Given the description of an element on the screen output the (x, y) to click on. 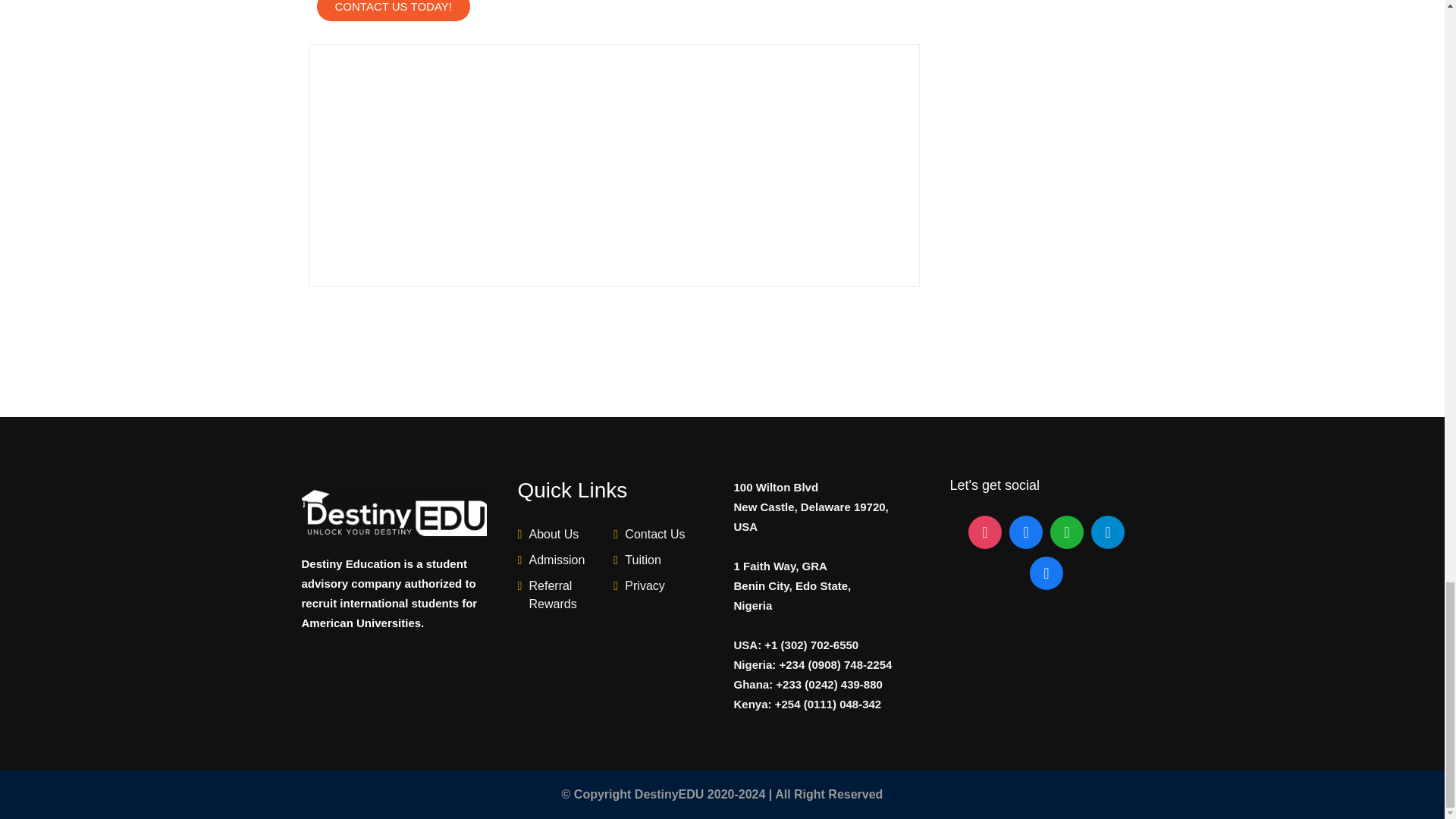
Telegram (1107, 531)
Instagram (984, 531)
Whatsapp (1066, 531)
CONTACT US TODAY! (393, 10)
Linkedin (1046, 572)
Facebook (1026, 531)
